Given the description of an element on the screen output the (x, y) to click on. 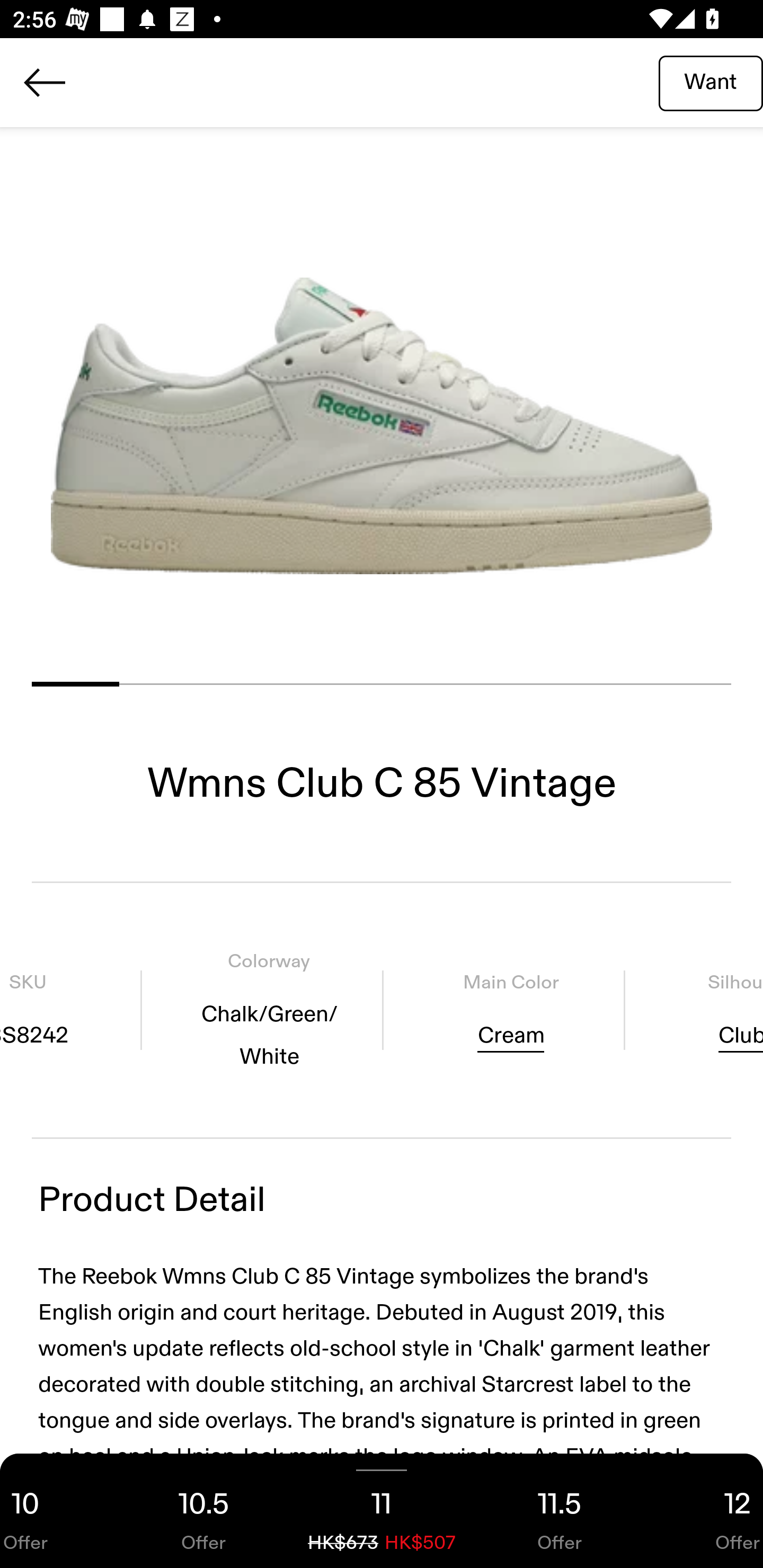
Want (710, 82)
Colorway Chalk/Green/White (268, 1009)
Main Color Cream (509, 1009)
10 Offer (57, 1510)
10.5 Offer (203, 1510)
11 HK$673 HK$507 (381, 1510)
11.5 Offer (559, 1510)
12 Offer (705, 1510)
